Given the description of an element on the screen output the (x, y) to click on. 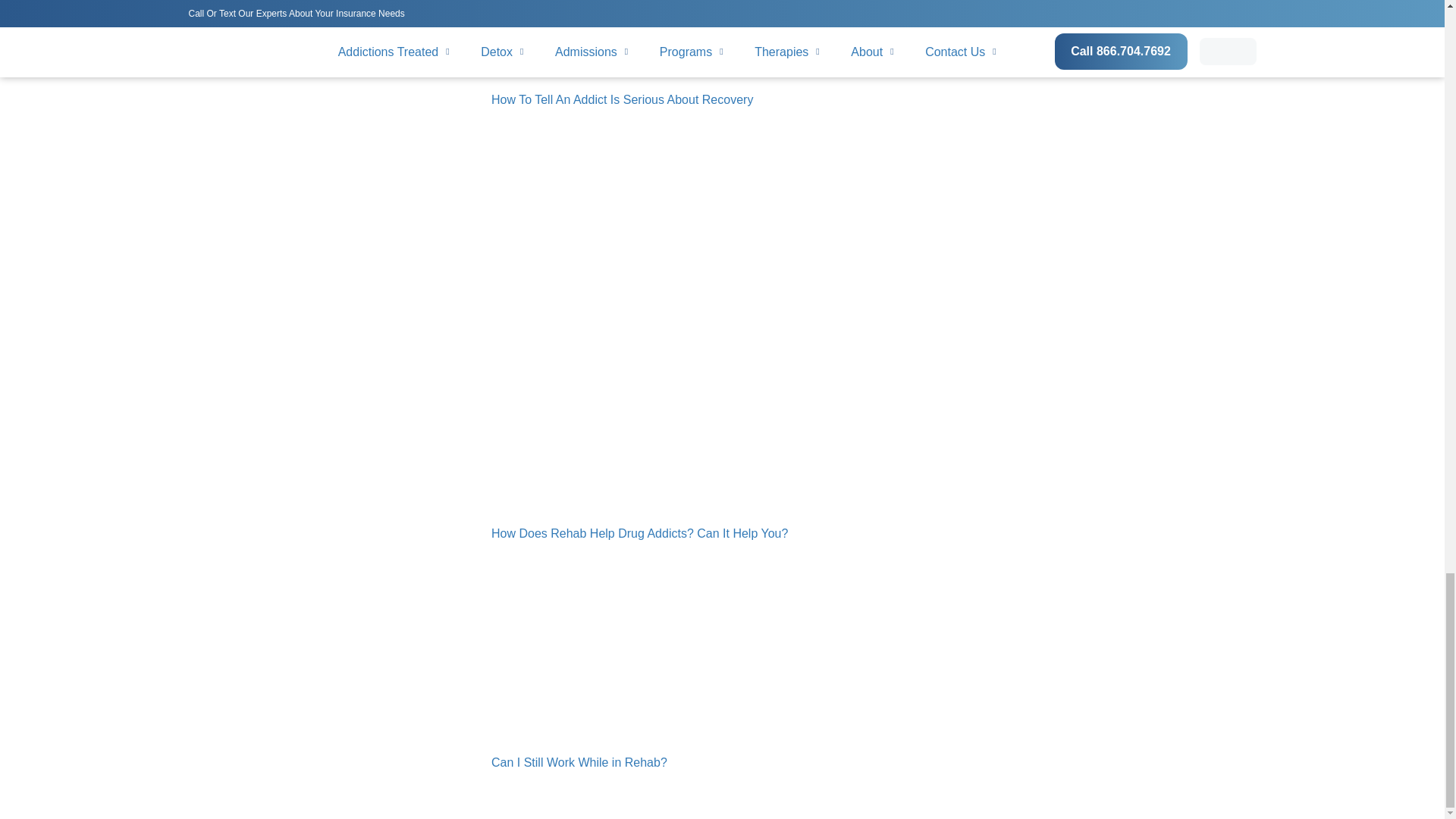
How Does Rehab Help Drug Addicts? Can It Help You? (639, 533)
Can I Still Work While in Rehab? (579, 762)
How To Tell An Addict Is Serious About Recovery (622, 99)
